Given the description of an element on the screen output the (x, y) to click on. 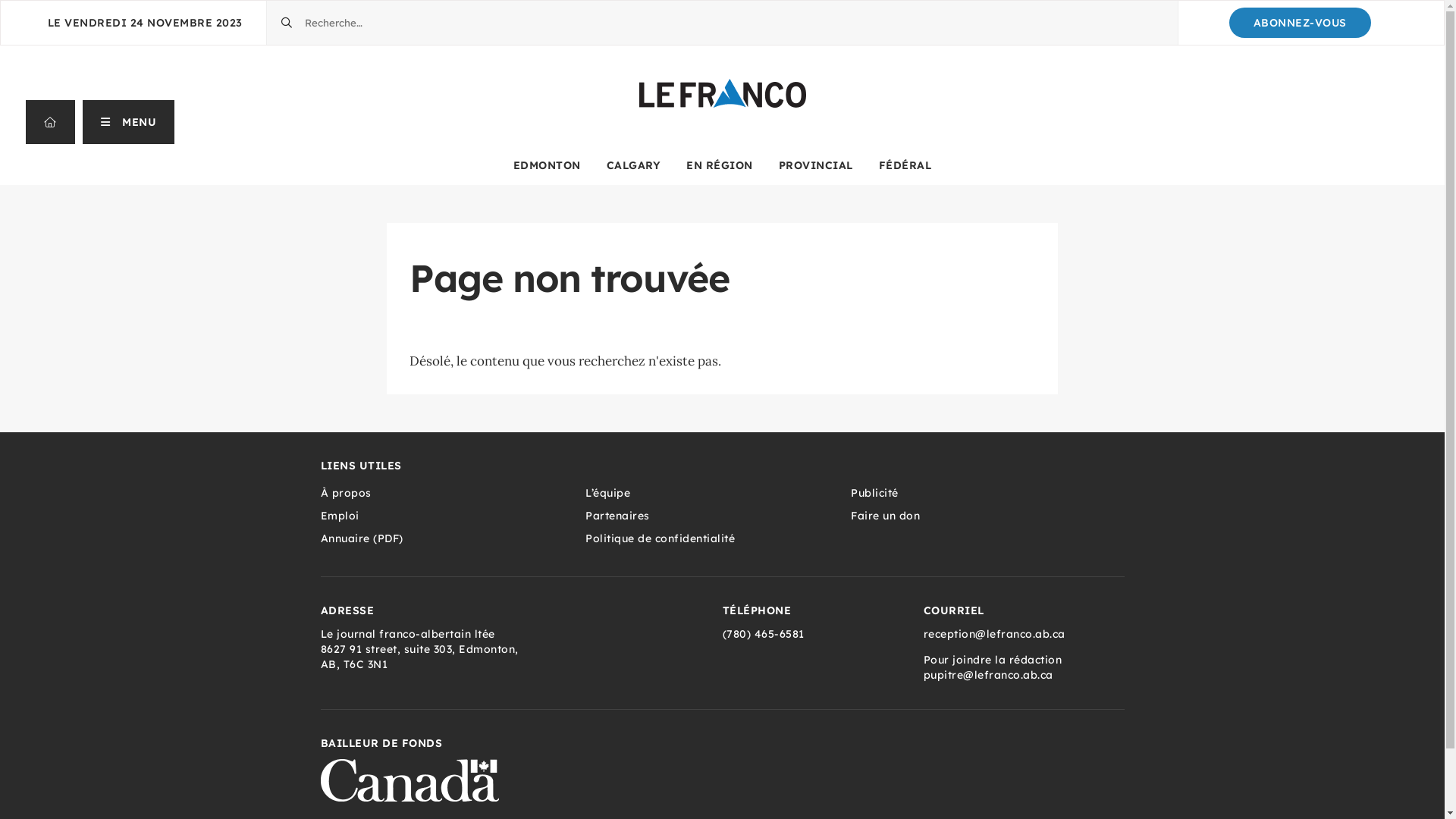
EDMONTON Element type: text (546, 165)
Annuaire (PDF) Element type: text (452, 538)
reception@lefranco.ab.ca Element type: text (994, 633)
Faire un don Element type: text (983, 515)
ABONNEZ-VOUS Element type: text (1299, 22)
Rechercher Element type: text (266, 1)
pupitre@lefranco.ab.ca Element type: text (988, 674)
Partenaires Element type: text (717, 515)
PROVINCIAL Element type: text (815, 165)
CALGARY Element type: text (633, 165)
Emploi Element type: text (452, 515)
(780) 465-6581 Element type: text (762, 633)
